Given the description of an element on the screen output the (x, y) to click on. 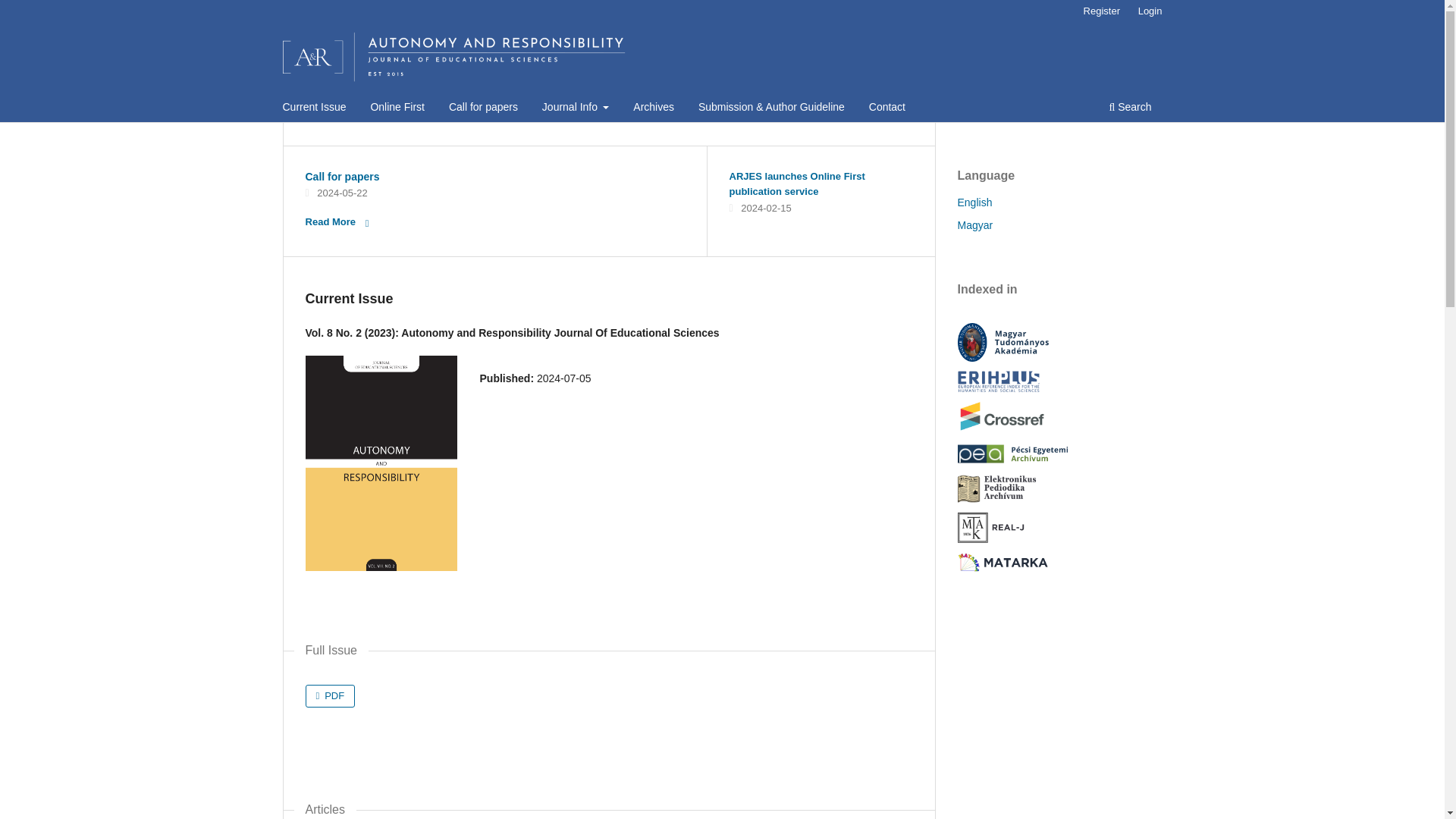
Archives (653, 108)
Register (1100, 11)
Search (1129, 108)
Call for papers (341, 176)
Journal Info (575, 108)
PDF (329, 695)
Current Issue (315, 108)
Online First (397, 108)
ARJES launches Online First publication service (796, 183)
Login (1150, 11)
Call for papers (483, 108)
Contact (887, 108)
Read More (341, 221)
